Given the description of an element on the screen output the (x, y) to click on. 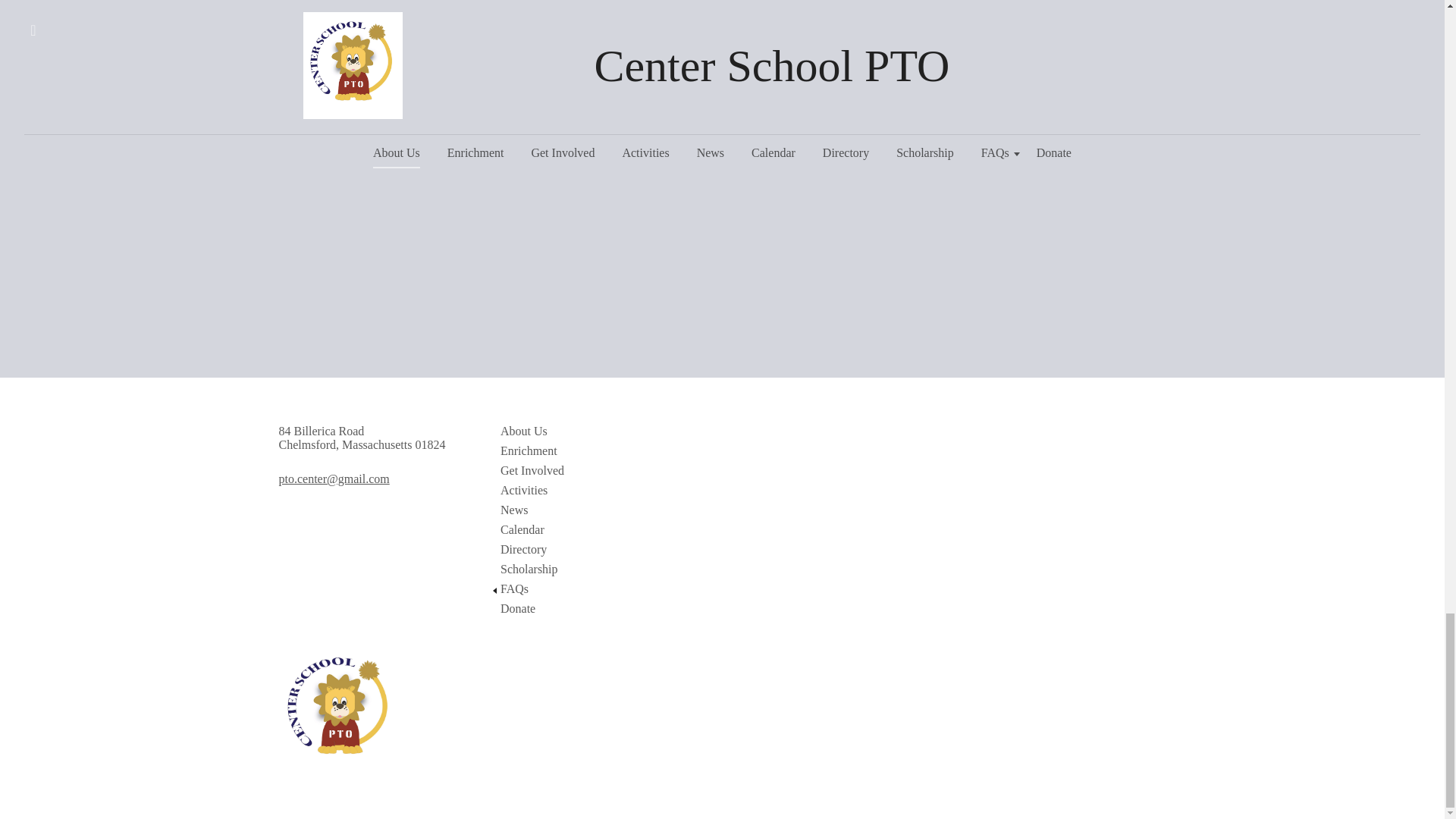
Enrichment (596, 450)
About Us (596, 431)
